Given the description of an element on the screen output the (x, y) to click on. 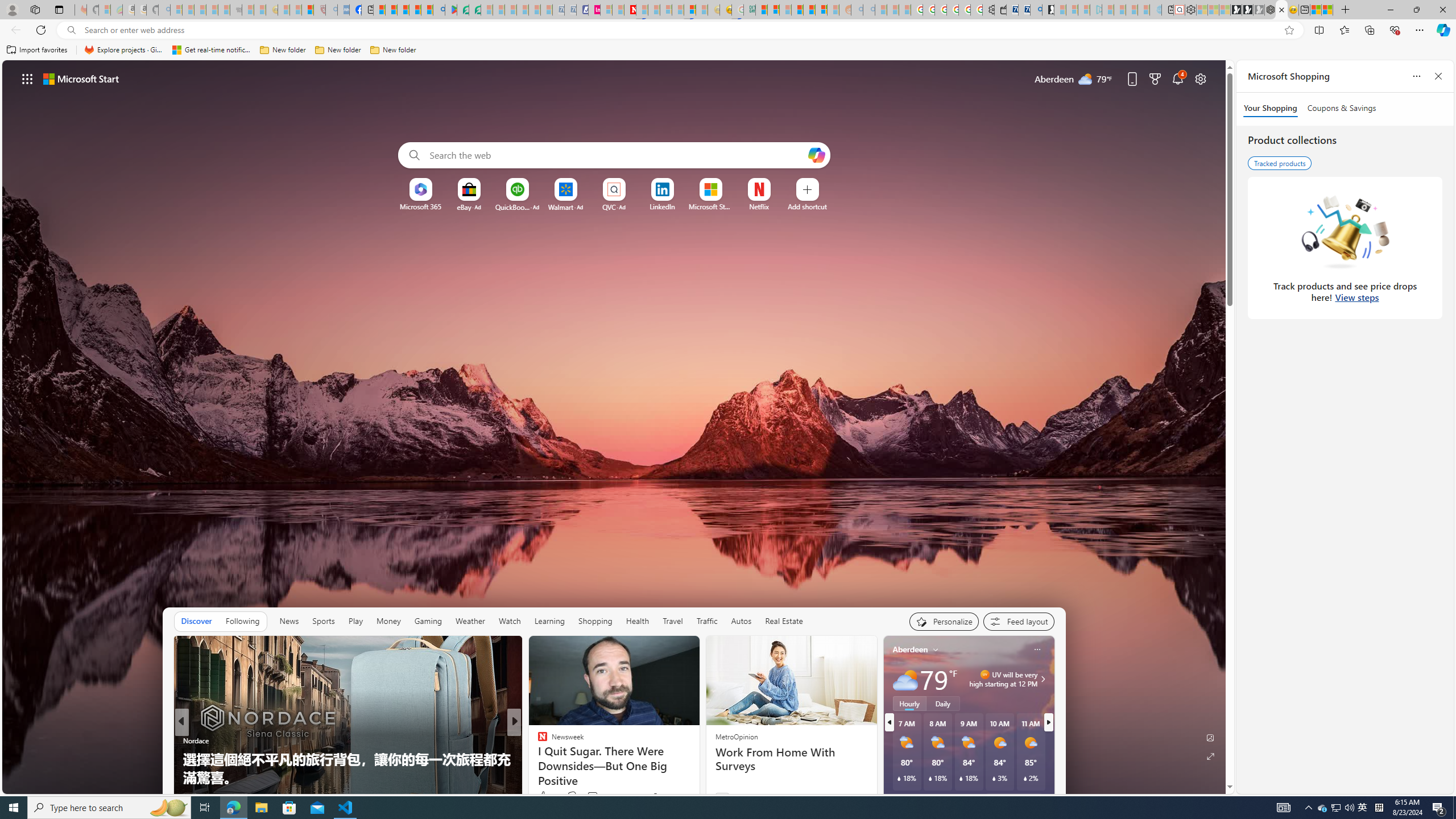
View comments 307 Comment (588, 797)
Autos (740, 621)
69 Like (543, 796)
Health Digest (537, 758)
View comments 18 Comment (597, 796)
